Given the description of an element on the screen output the (x, y) to click on. 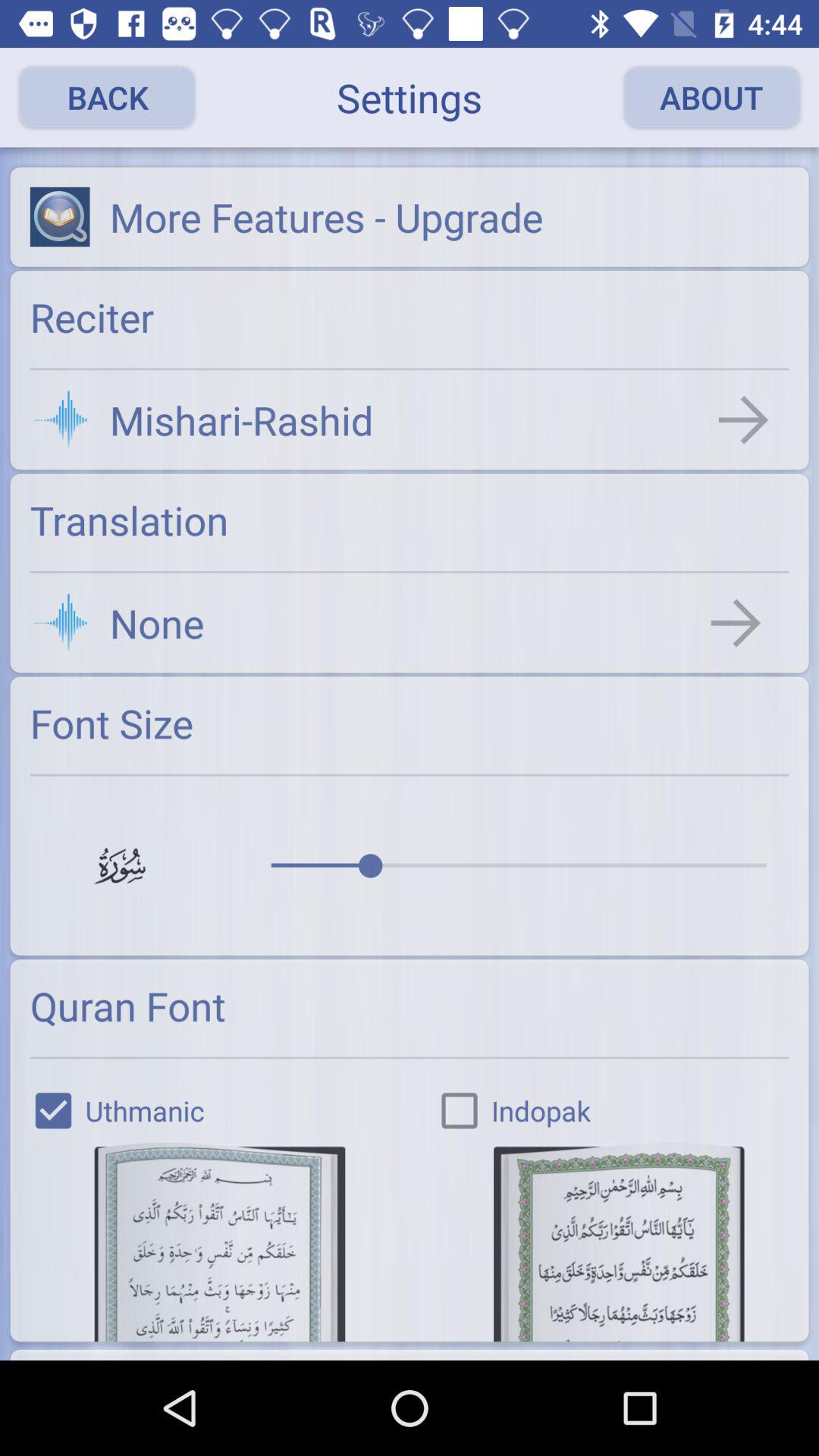
change the font to indopak (618, 1241)
